Given the description of an element on the screen output the (x, y) to click on. 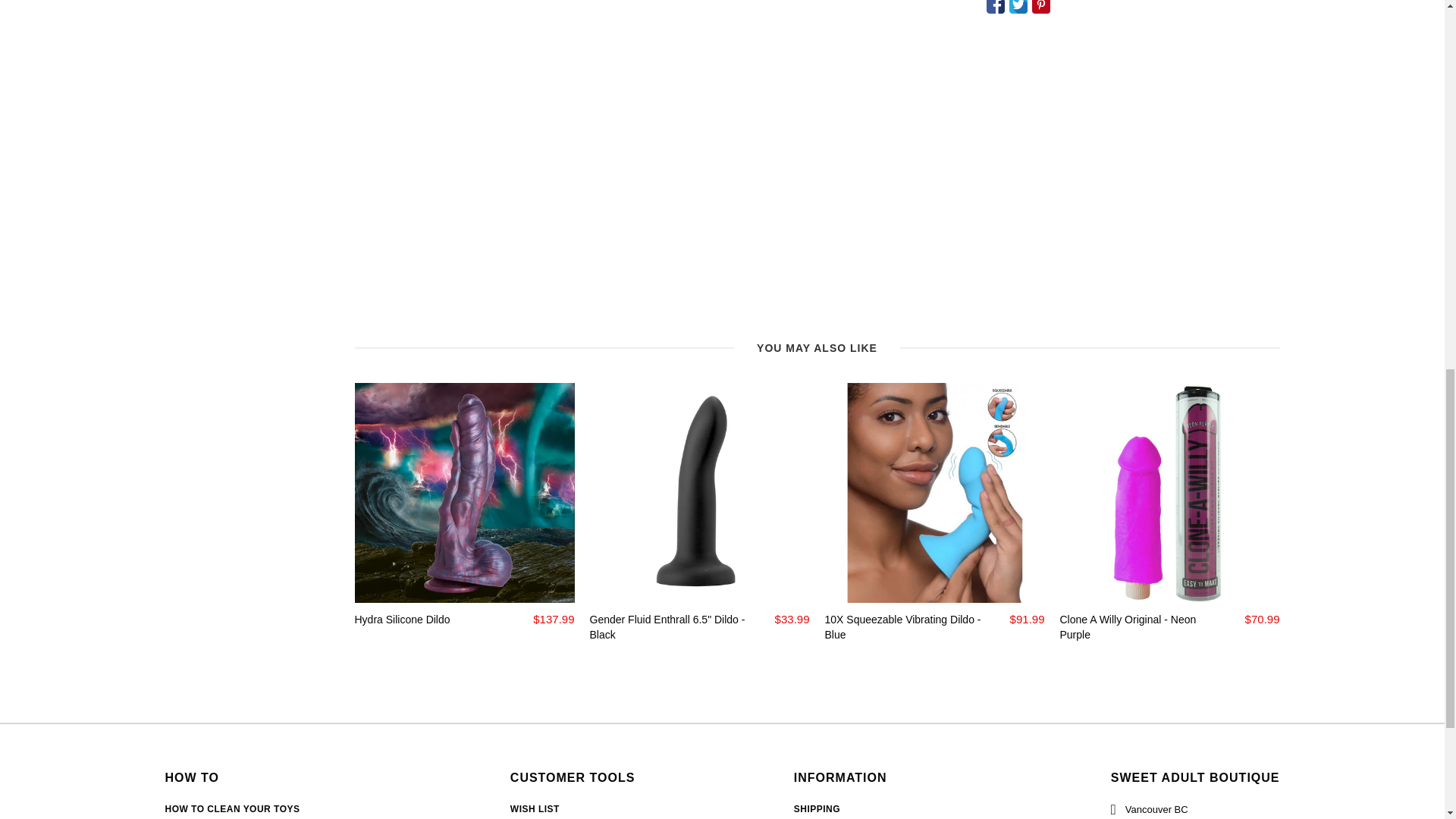
Share on Facebook (995, 6)
Tweet on Twitter (1018, 6)
Pin on Pinterest (1040, 6)
